Given the description of an element on the screen output the (x, y) to click on. 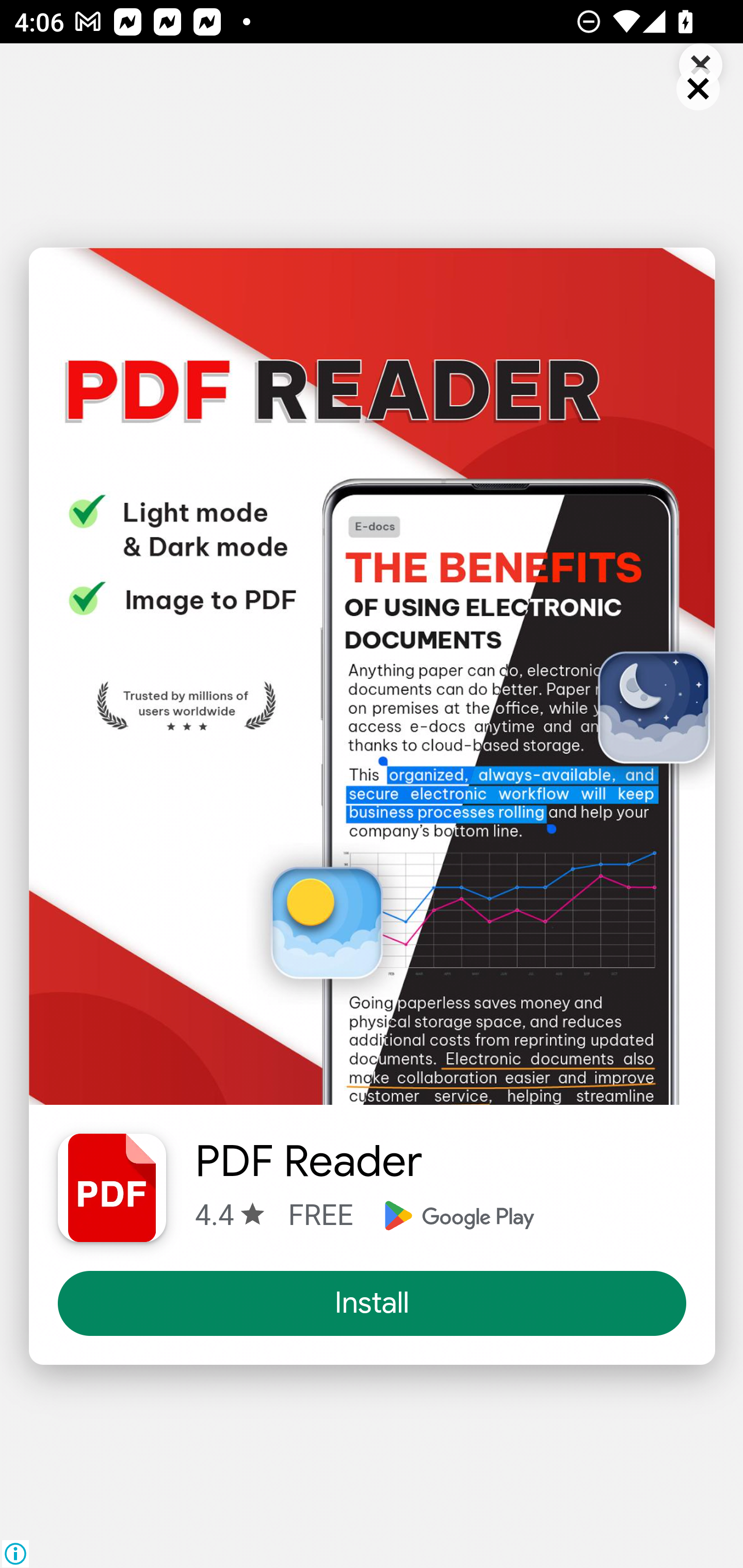
Install (372, 1304)
